Given the description of an element on the screen output the (x, y) to click on. 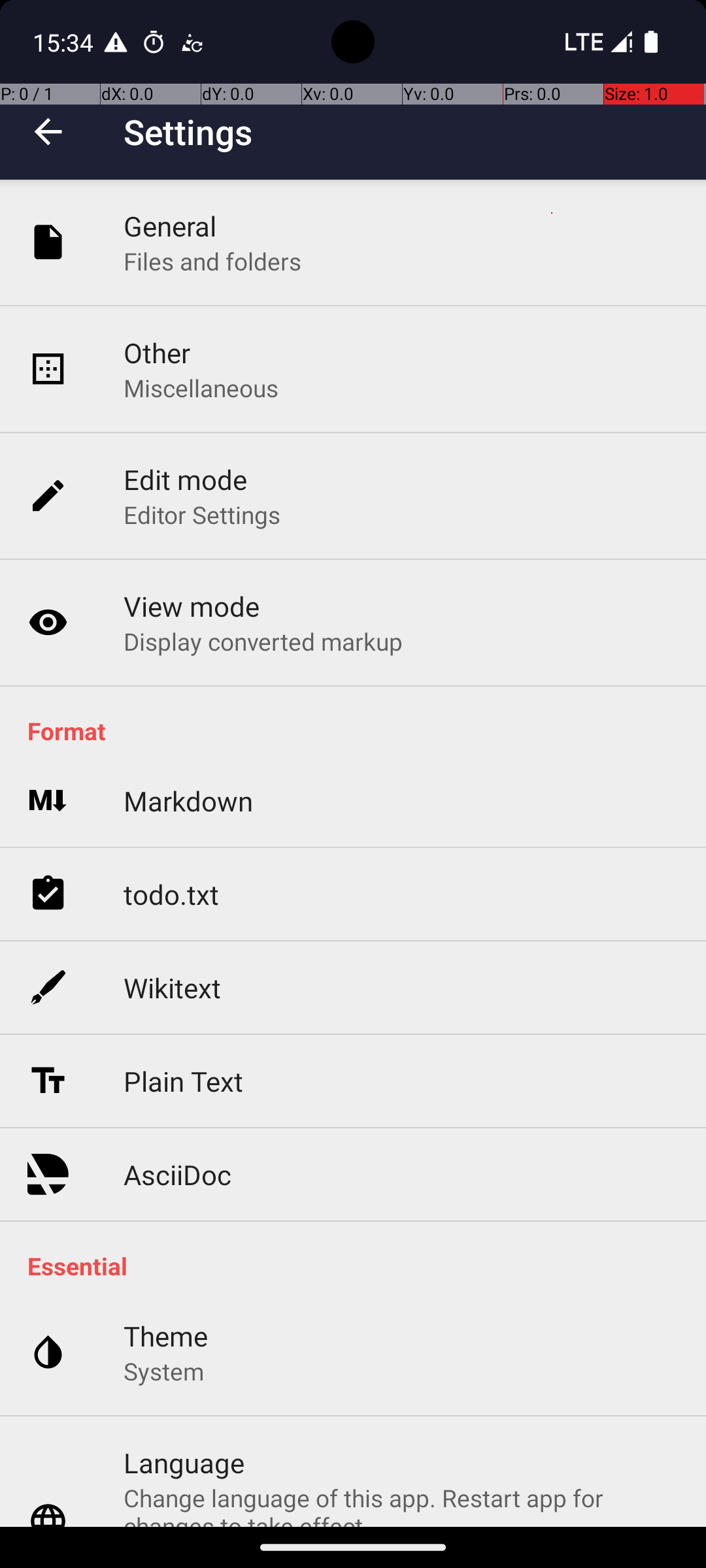
Format Element type: android.widget.TextView (359, 730)
Essential Element type: android.widget.TextView (359, 1265)
General Element type: android.widget.TextView (170, 225)
Files and folders Element type: android.widget.TextView (212, 260)
Other Element type: android.widget.TextView (156, 352)
Miscellaneous Element type: android.widget.TextView (200, 387)
Edit mode Element type: android.widget.TextView (185, 478)
Editor Settings Element type: android.widget.TextView (202, 514)
Display converted markup Element type: android.widget.TextView (263, 640)
todo.txt Element type: android.widget.TextView (170, 893)
Wikitext Element type: android.widget.TextView (171, 987)
Plain Text Element type: android.widget.TextView (183, 1080)
AsciiDoc Element type: android.widget.TextView (177, 1173)
Theme Element type: android.widget.TextView (165, 1335)
System Element type: android.widget.TextView (163, 1370)
Language Element type: android.widget.TextView (183, 1462)
Change language of this app. Restart app for changes to take effect

English (English, United States) Element type: android.widget.TextView (400, 1503)
VLC notification: Scanning for media files Element type: android.widget.ImageView (191, 41)
